Given the description of an element on the screen output the (x, y) to click on. 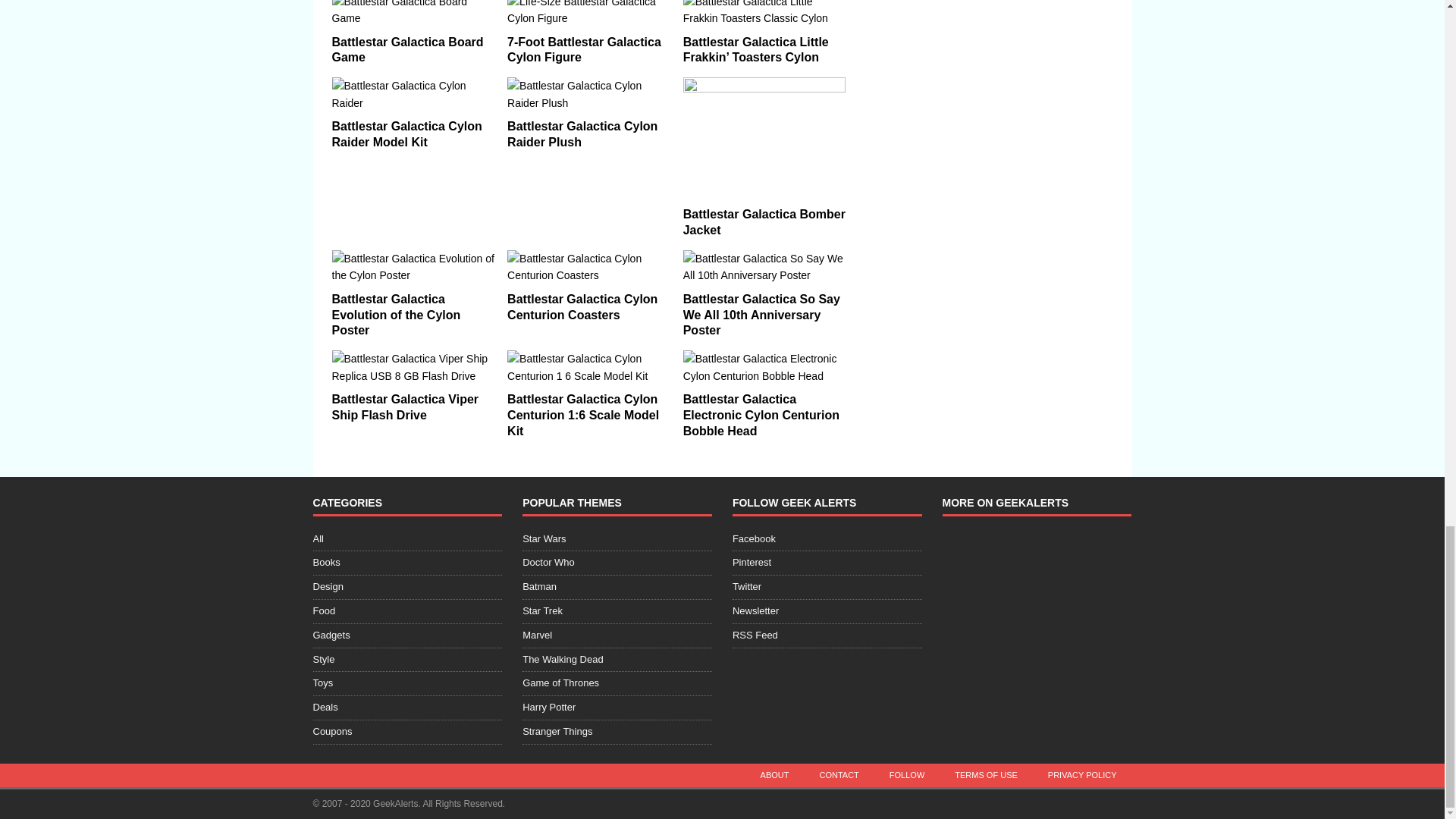
Battlestar Galactica Cylon Centurion 1:6 Scale Model Kit (587, 367)
Battlestar Galactica Board Game (407, 50)
Battlestar Galactica So Say We All 10th Anniversary Poster (761, 314)
Battlestar Galactica Viper Ship Flash Drive (405, 407)
Battlestar Galactica Bomber Jacket (763, 222)
Battlestar Galactica Cylon Raider Model Kit (413, 93)
Battlestar Galactica Evolution of the Cylon Poster (413, 267)
Battlestar Galactica Cylon Centurion 1:6 Scale Model Kit (582, 415)
Battlestar Galactica Cylon Raider Model Kit (406, 133)
7-Foot Battlestar Galactica Cylon Figure (583, 50)
Battlestar Galactica Bomber Jacket (763, 137)
Battlestar Galactica Cylon Centurion Coasters (582, 306)
7-Foot Battlestar Galactica Cylon Figure (587, 13)
Battlestar Galactica Cylon Centurion Coasters (587, 267)
Battlestar Galactica Cylon Raider Plush (582, 133)
